Given the description of an element on the screen output the (x, y) to click on. 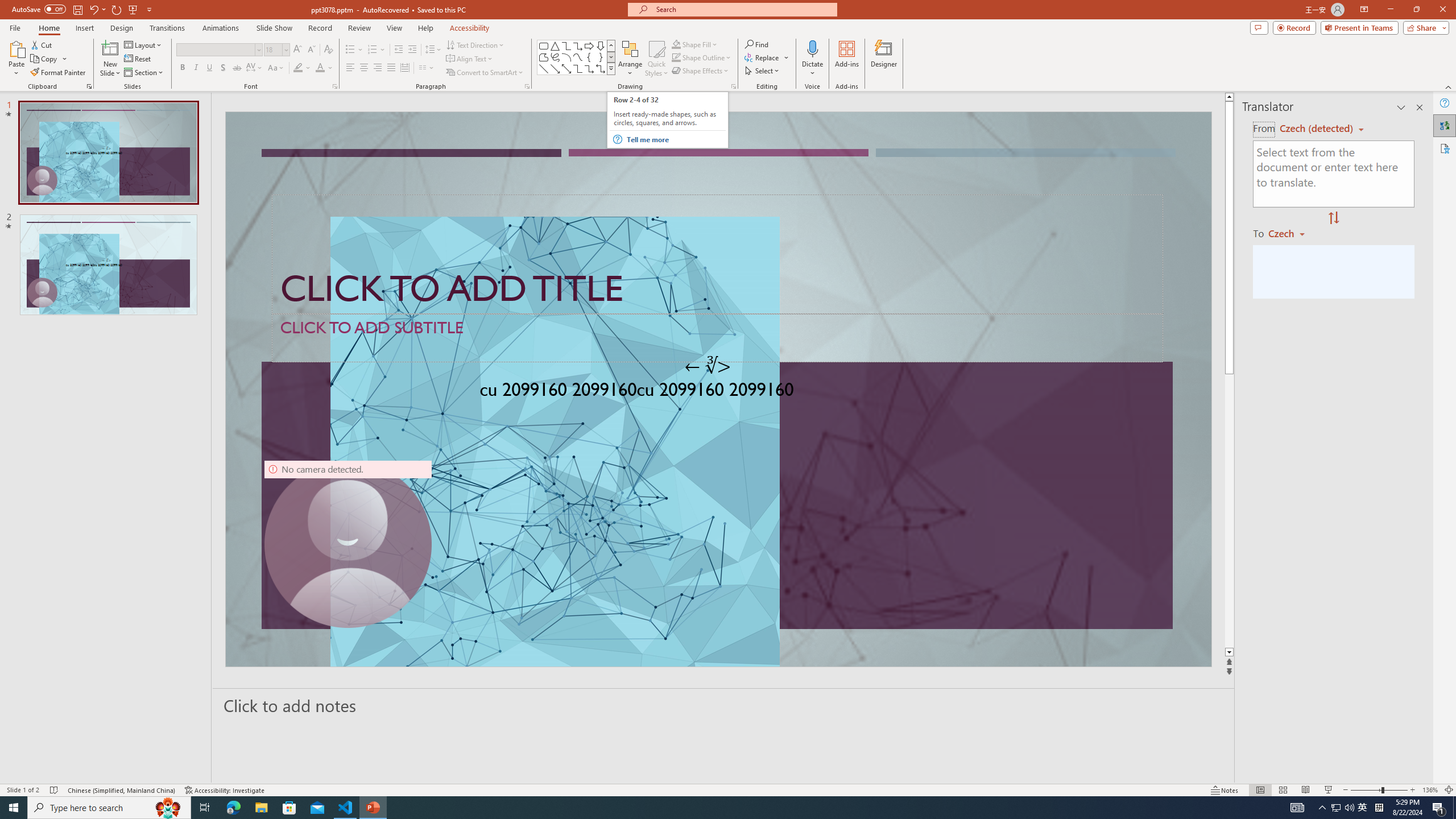
Cut (42, 44)
Zoom 136% (1430, 790)
Isosceles Triangle (554, 45)
Arc (566, 57)
Subtitle TextBox (717, 337)
